Given the description of an element on the screen output the (x, y) to click on. 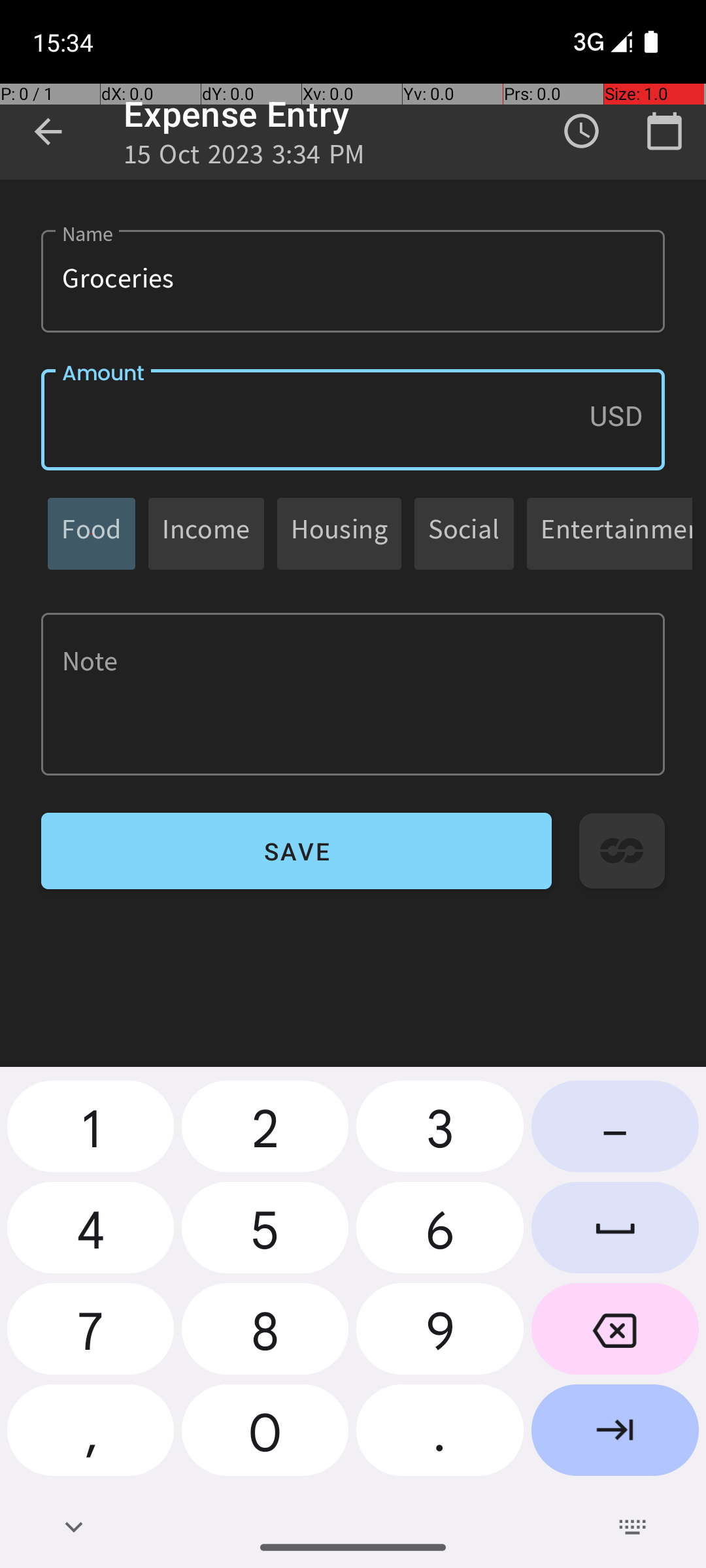
Groceries Element type: android.widget.EditText (352, 280)
Dash Element type: android.widget.FrameLayout (614, 1130)
